Given the description of an element on the screen output the (x, y) to click on. 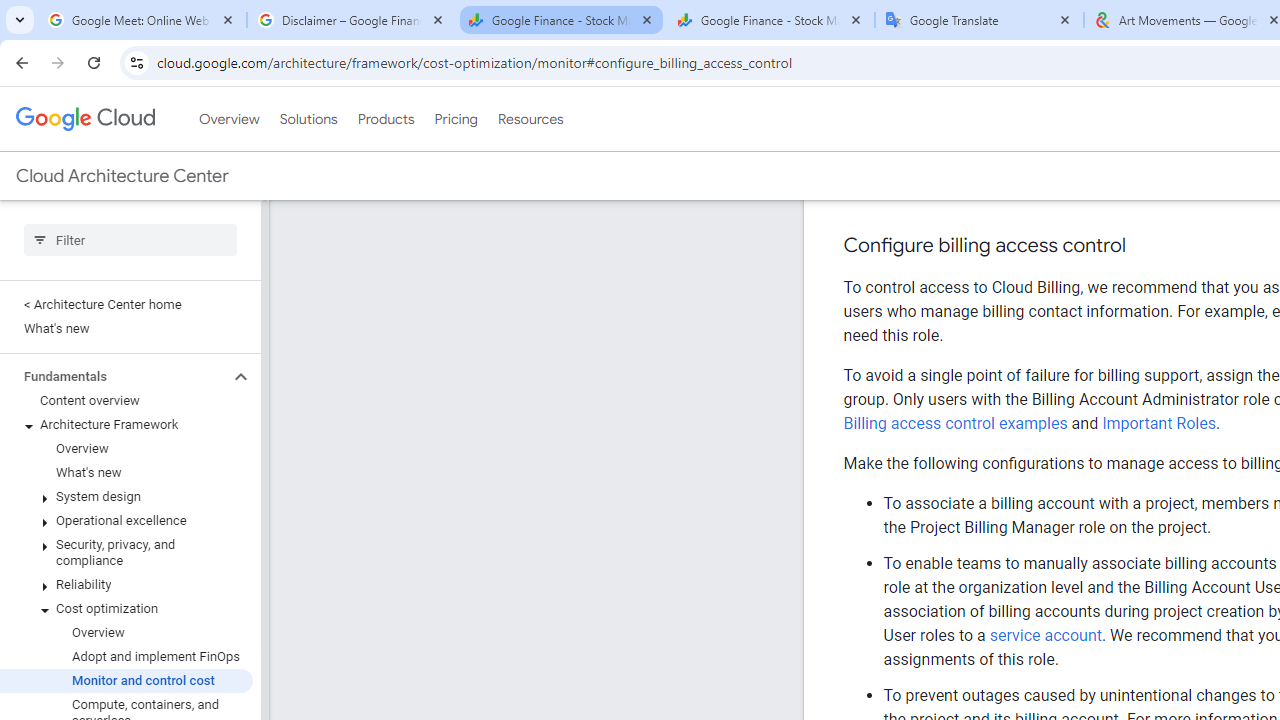
Monitor and control cost (126, 593)
Operational excellence (126, 433)
Solutions (308, 32)
Pricing (455, 32)
Architecture Framework (126, 337)
Content overview (126, 313)
Databases and smart analytics (126, 689)
Cloud Architecture Center (122, 88)
